Given the description of an element on the screen output the (x, y) to click on. 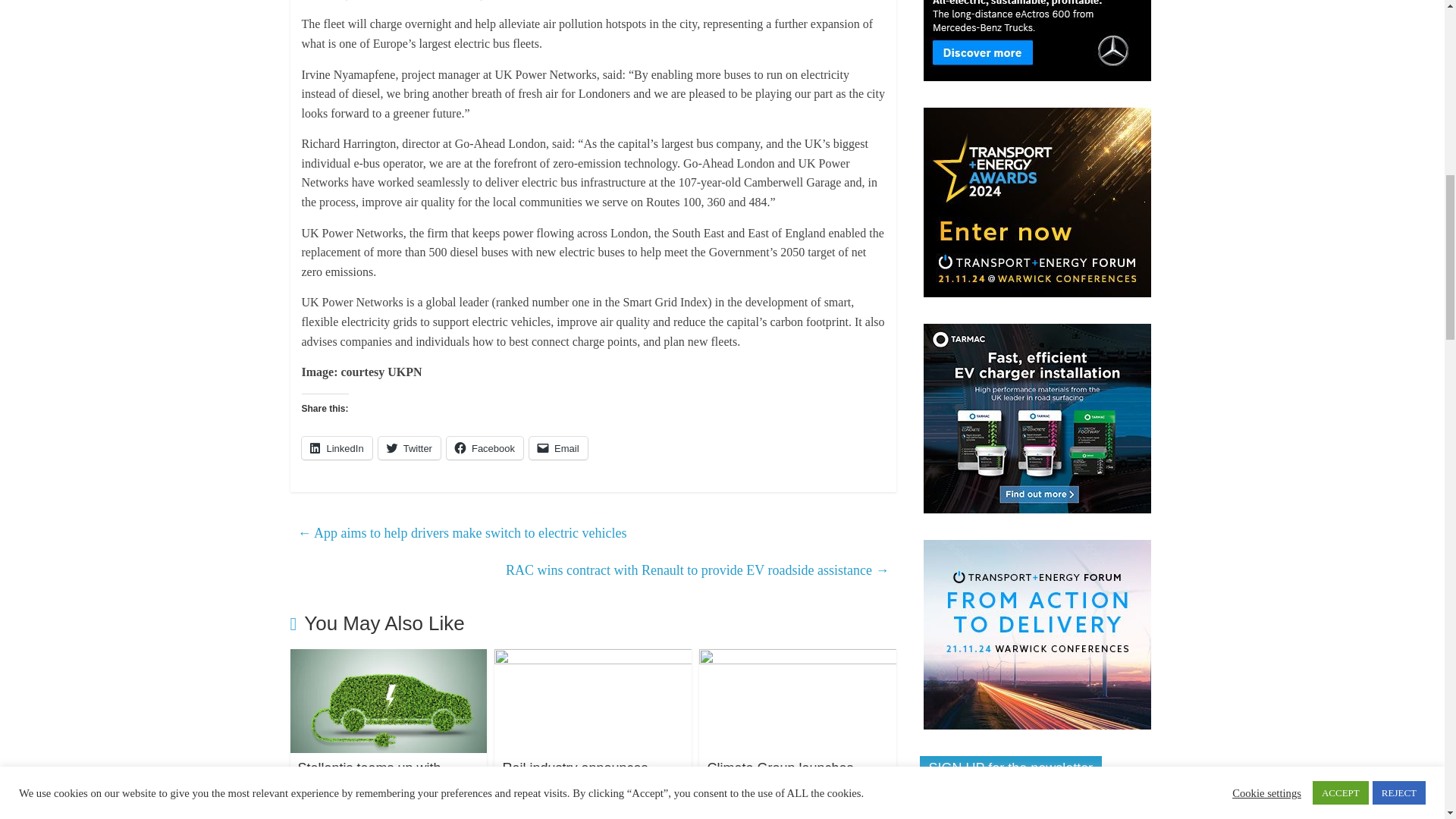
Click to share on LinkedIn (336, 447)
Click to email a link to a friend (558, 447)
Click to share on Facebook (484, 447)
Click to share on Twitter (409, 447)
8:13 pm (336, 816)
